Given the description of an element on the screen output the (x, y) to click on. 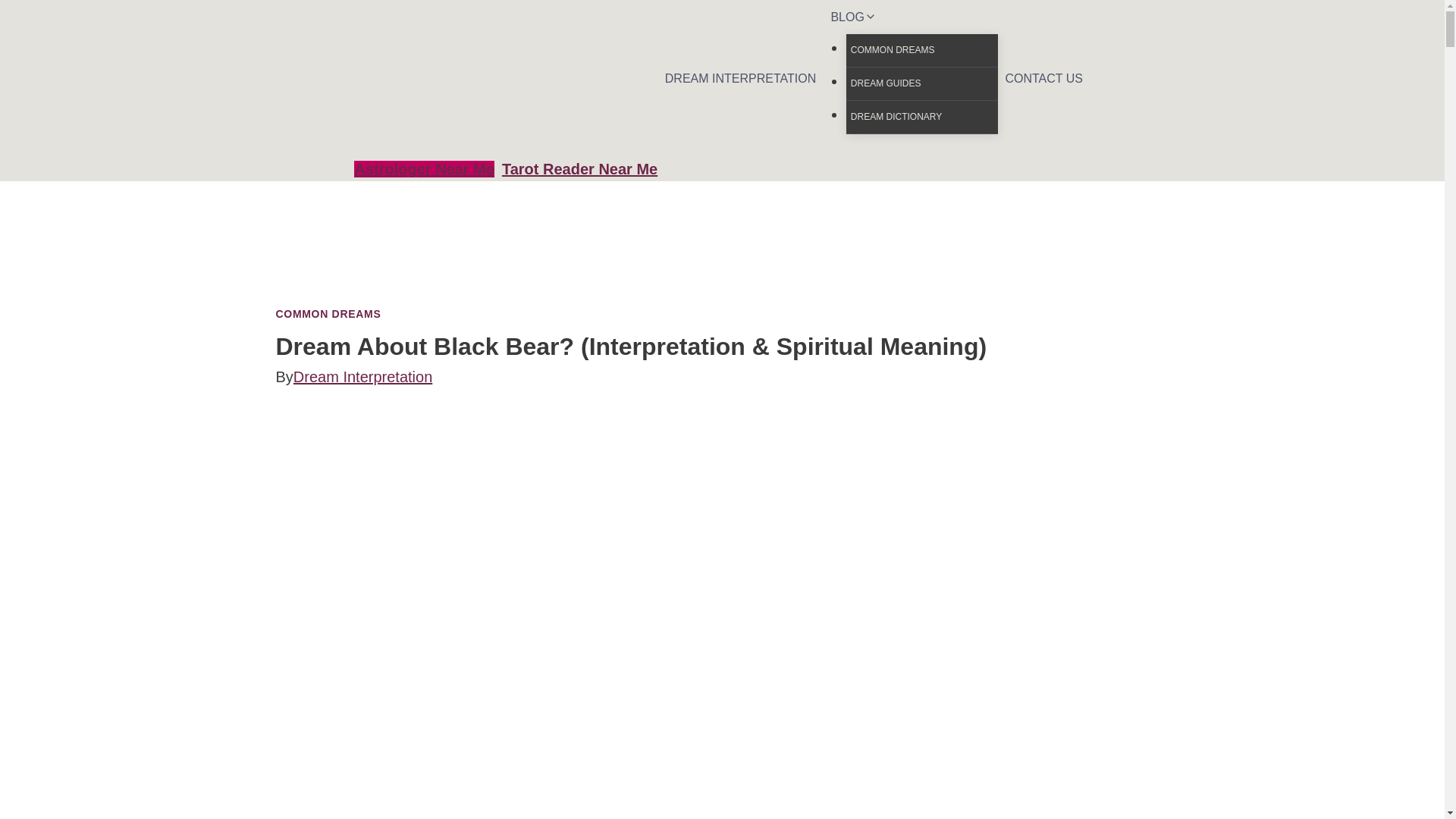
Tarot Reader Near Me (580, 168)
DREAM GUIDES (921, 83)
Dream Interpretation (363, 376)
COMMON DREAMS (921, 50)
COMMON DREAMS (328, 313)
BLOG (910, 17)
CONTACT US (1043, 78)
Astrologer Near Me (424, 168)
DREAM INTERPRETATION (741, 78)
DREAM DICTIONARY (921, 116)
